Given the description of an element on the screen output the (x, y) to click on. 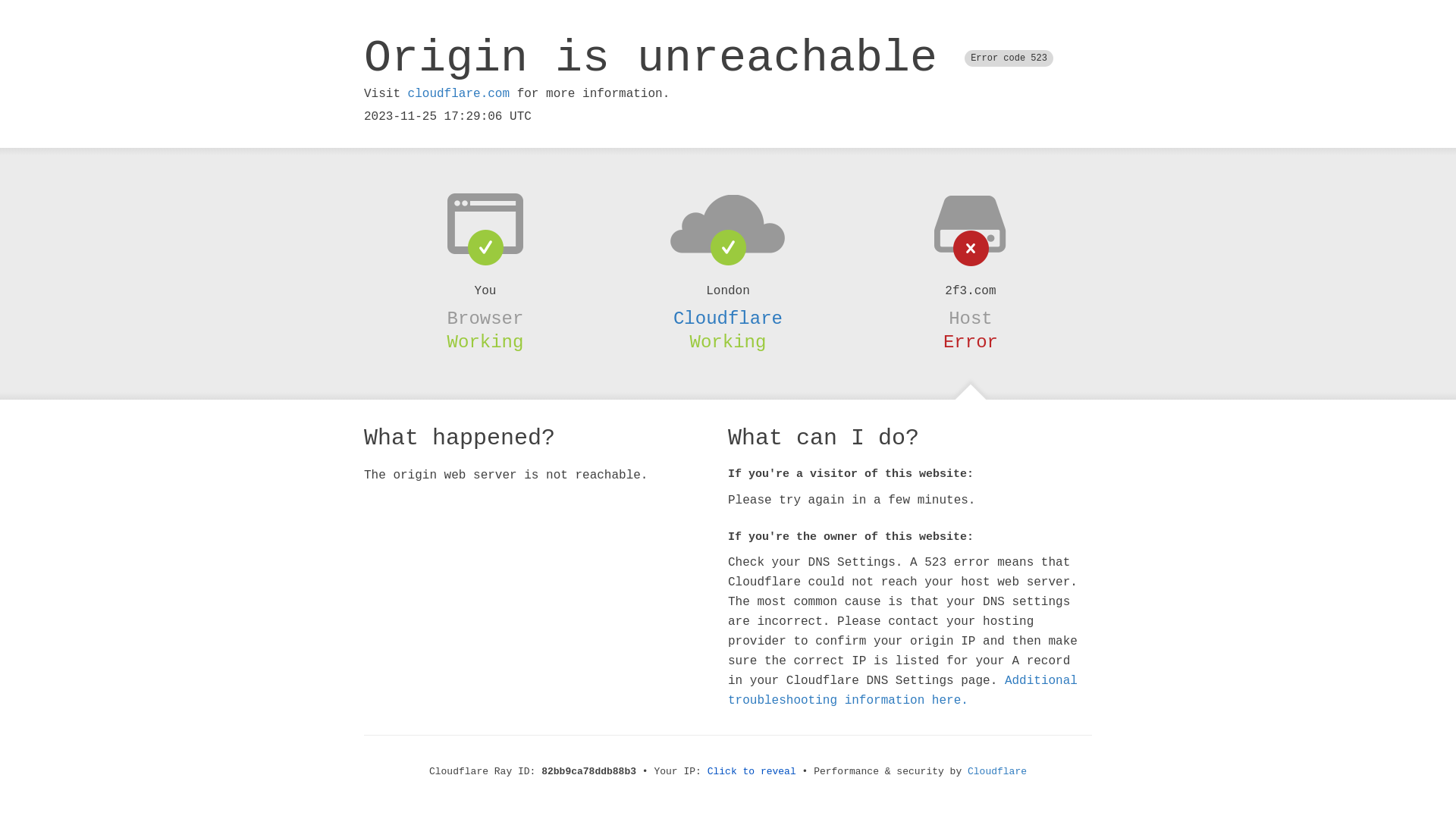
cloudflare.com Element type: text (458, 93)
Cloudflare Element type: text (996, 771)
Additional troubleshooting information here. Element type: text (902, 690)
Cloudflare Element type: text (727, 318)
Click to reveal Element type: text (751, 771)
